Given the description of an element on the screen output the (x, y) to click on. 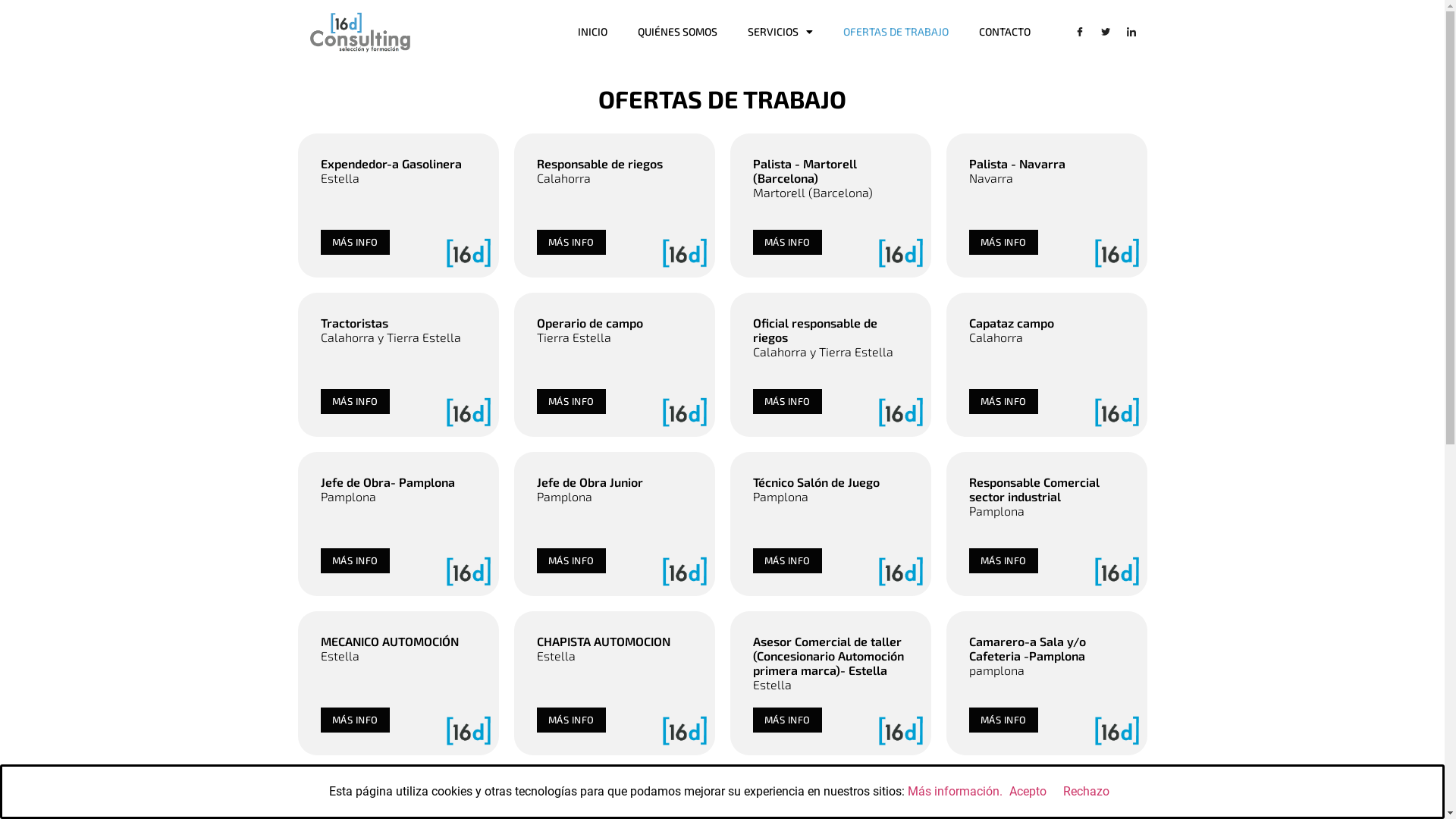
CONTACTO Element type: text (1004, 31)
Acepto Element type: text (1027, 791)
OFERTAS DE TRABAJO Element type: text (895, 31)
Rechazo Element type: text (1085, 791)
INICIO Element type: text (592, 31)
SERVICIOS Element type: text (780, 31)
